Given the description of an element on the screen output the (x, y) to click on. 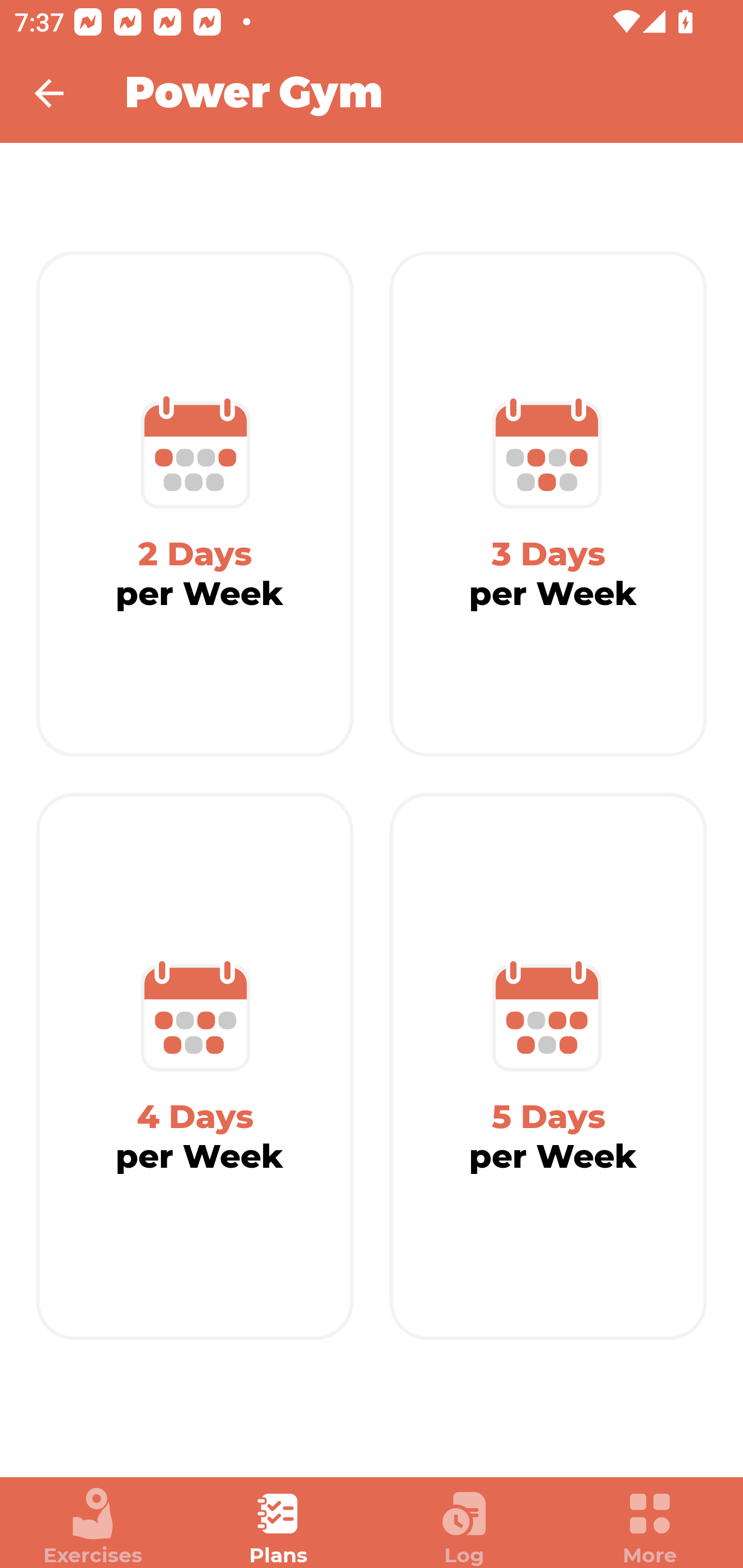
Back (62, 92)
2 Days
 per Week (194, 503)
3 Days
 per Week (547, 503)
4 Days
 per Week (194, 1066)
5 Days
 per Week (547, 1066)
Exercises (92, 1527)
Plans (278, 1527)
Log (464, 1527)
More (650, 1527)
